Given the description of an element on the screen output the (x, y) to click on. 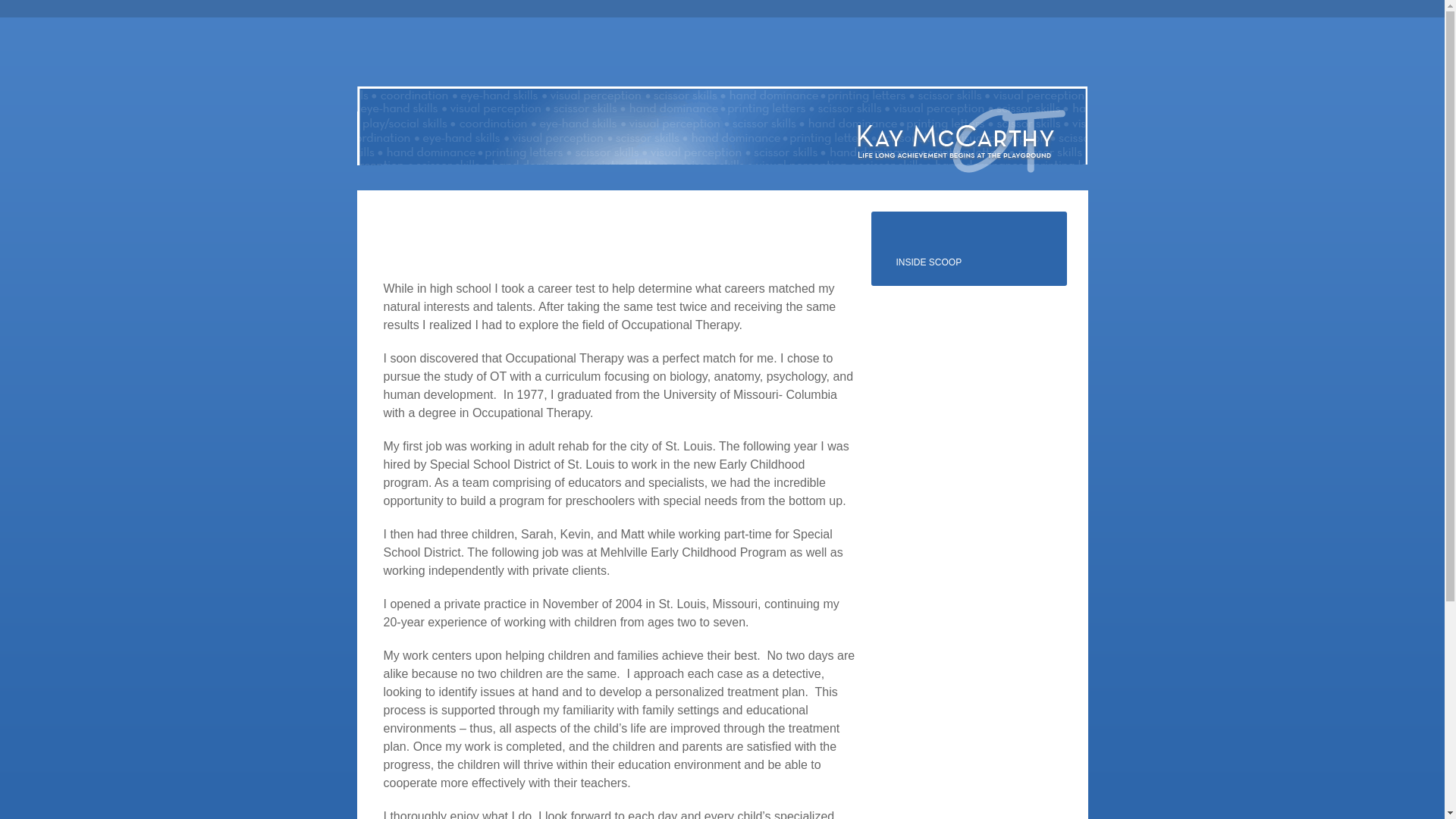
Publications (762, 51)
Skip main navigation and go to main content (398, 51)
Testimonials (489, 51)
Contact Info (853, 51)
Building Blocks (671, 51)
INSIDE SCOOP (972, 262)
Kay McCarthy Occupational Therapy (960, 140)
FAQs (580, 51)
Kay McCarthy Occupational Therapy (960, 140)
